Given the description of an element on the screen output the (x, y) to click on. 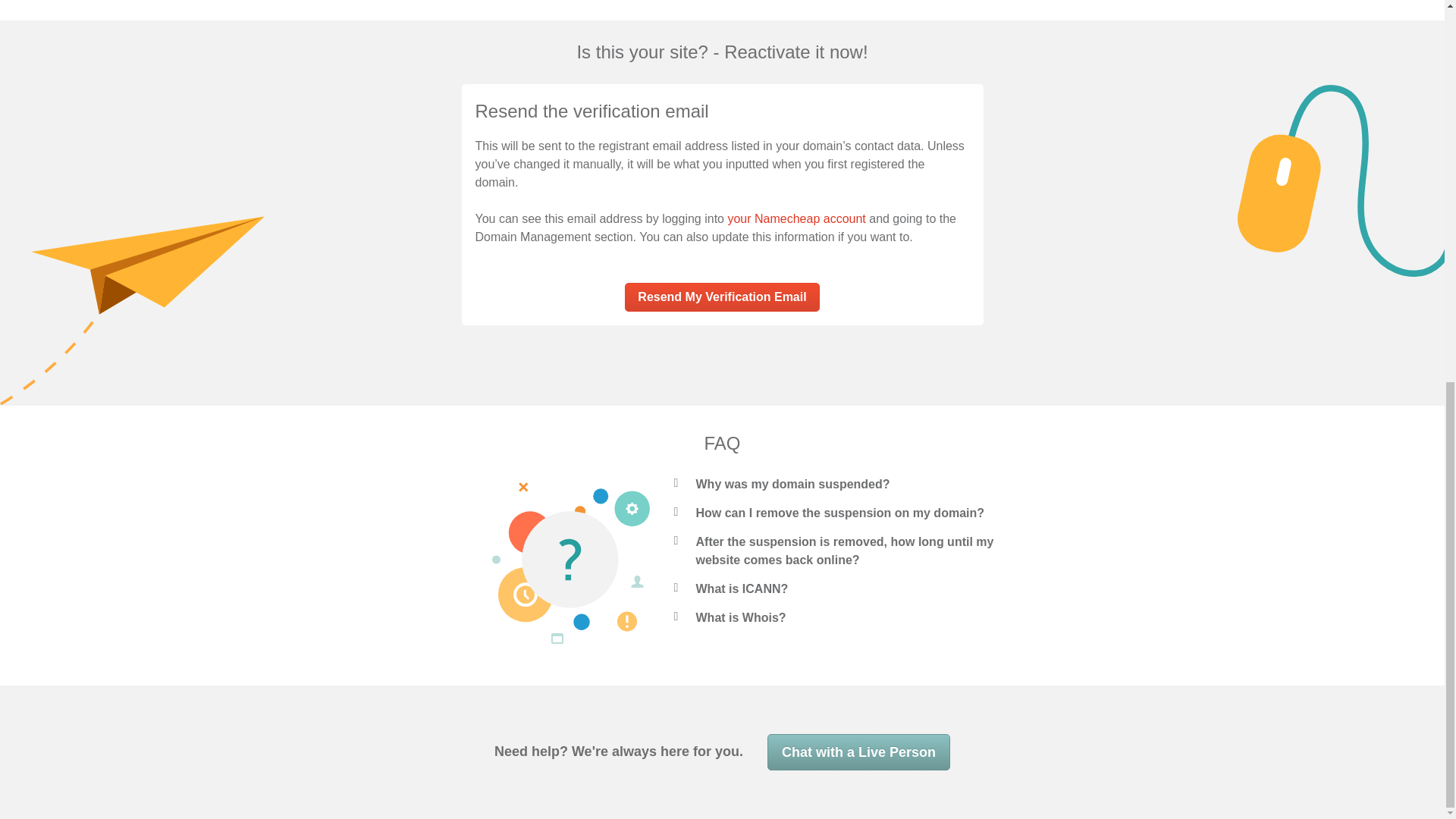
your Namecheap account (795, 218)
Resend My Verification Email (721, 297)
Chat with a Live Person (858, 751)
